Given the description of an element on the screen output the (x, y) to click on. 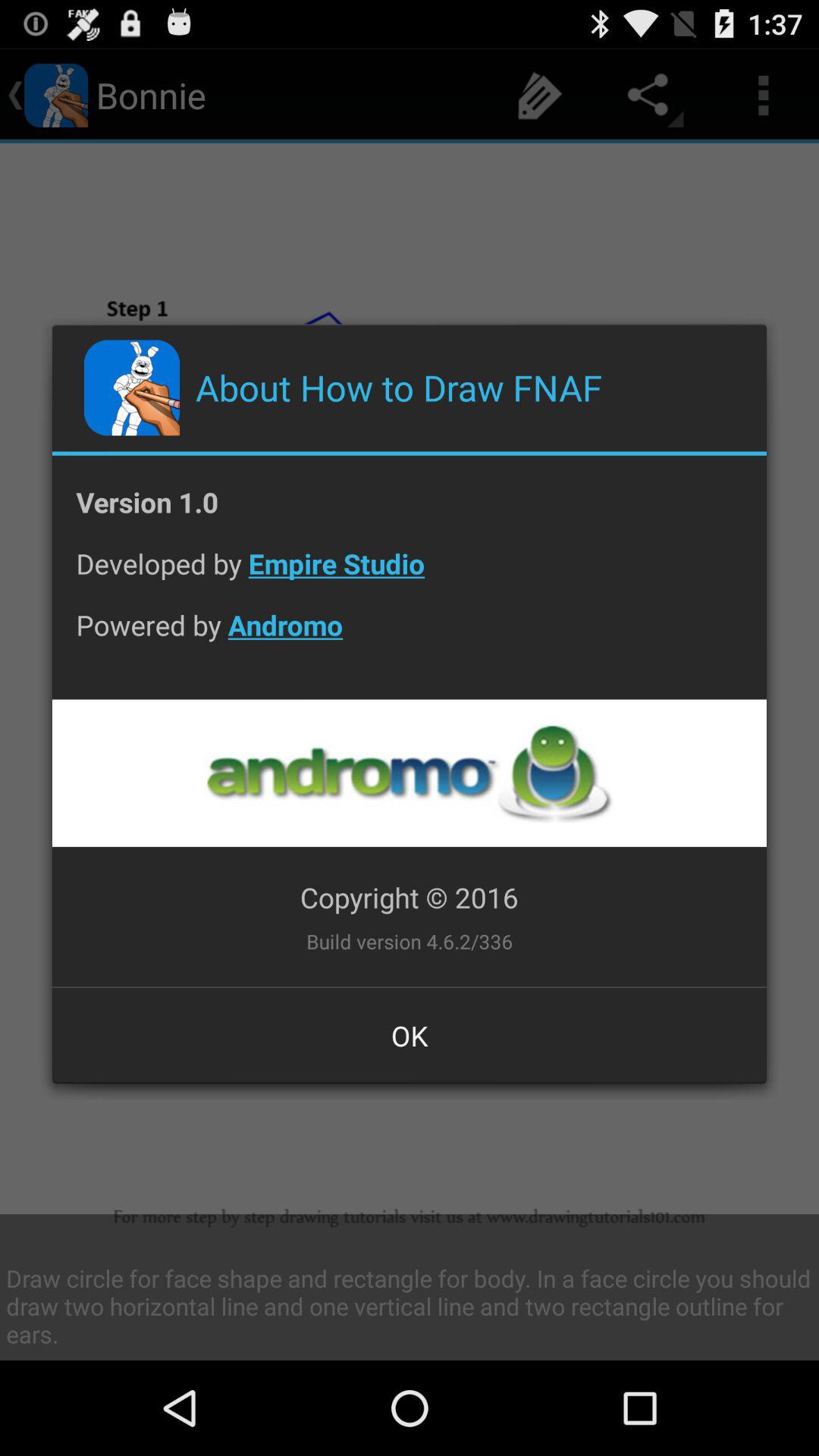
jump until the developed by empire item (409, 575)
